Given the description of an element on the screen output the (x, y) to click on. 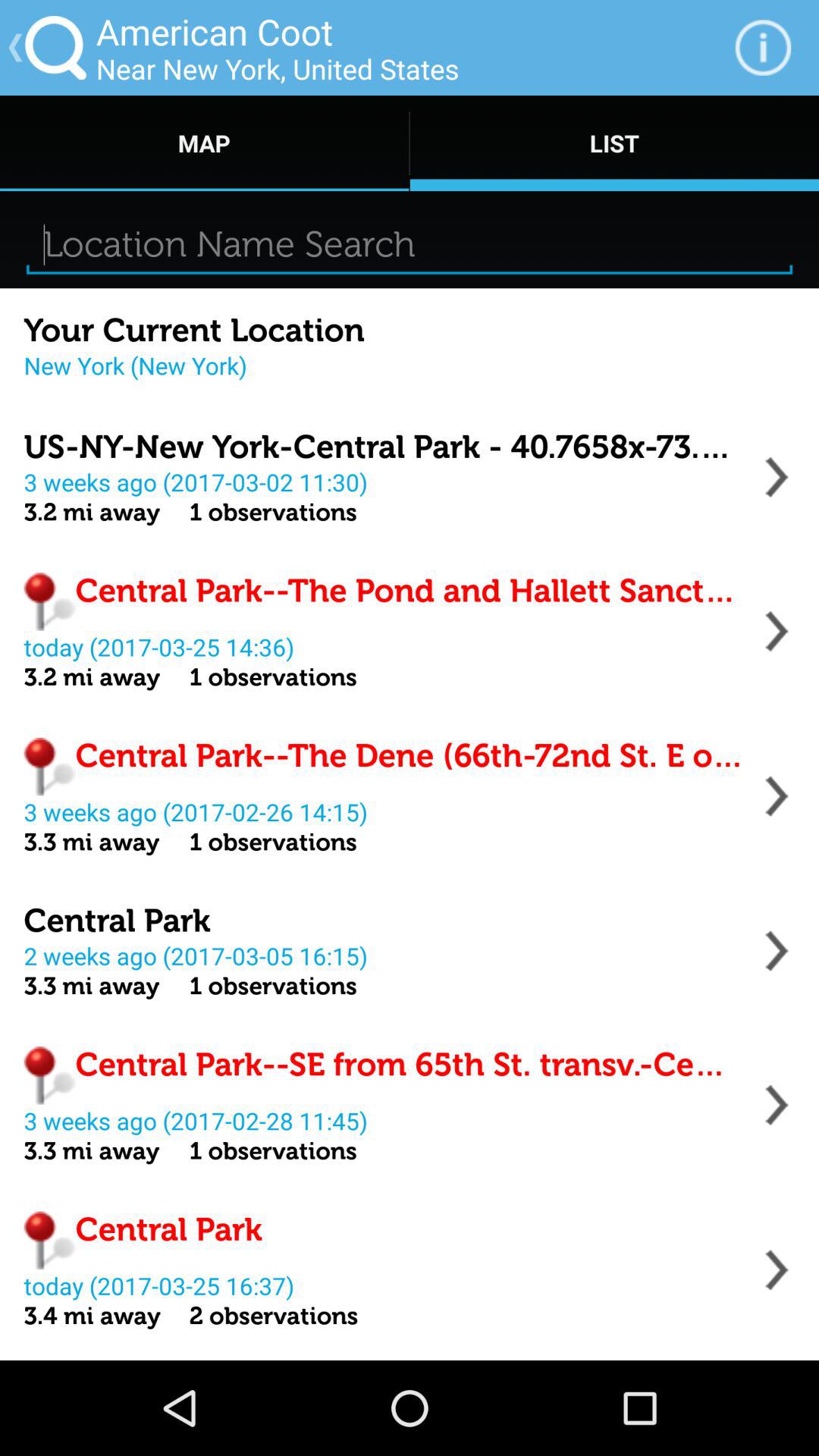
write location (409, 244)
